Given the description of an element on the screen output the (x, y) to click on. 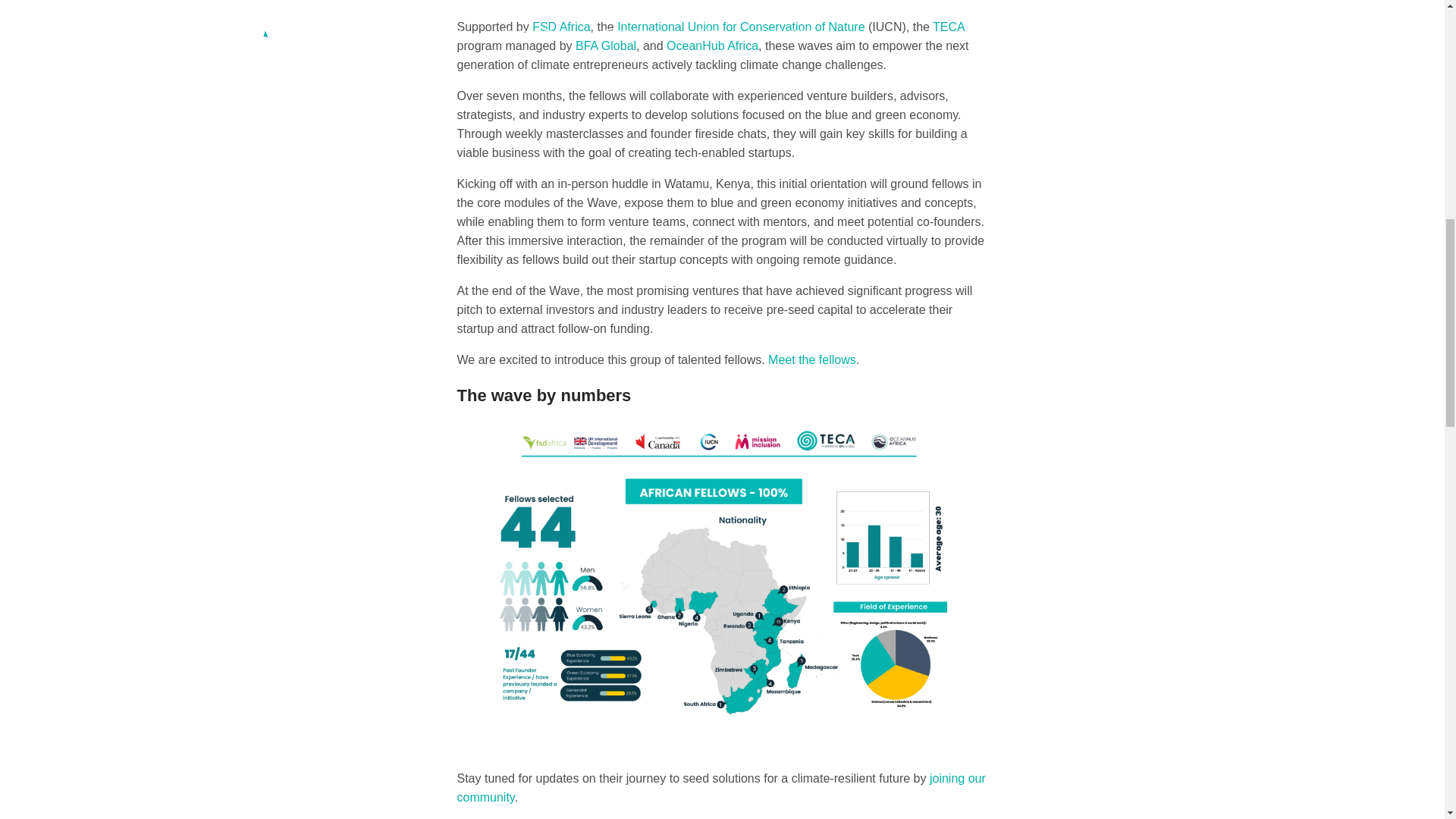
OceanHub Africa (712, 45)
TECA (948, 26)
BFA Global (605, 45)
International Union for Conservation of Nature (740, 26)
Meet the fellows (812, 359)
FSD Africa (560, 26)
joining our community (721, 787)
